Given the description of an element on the screen output the (x, y) to click on. 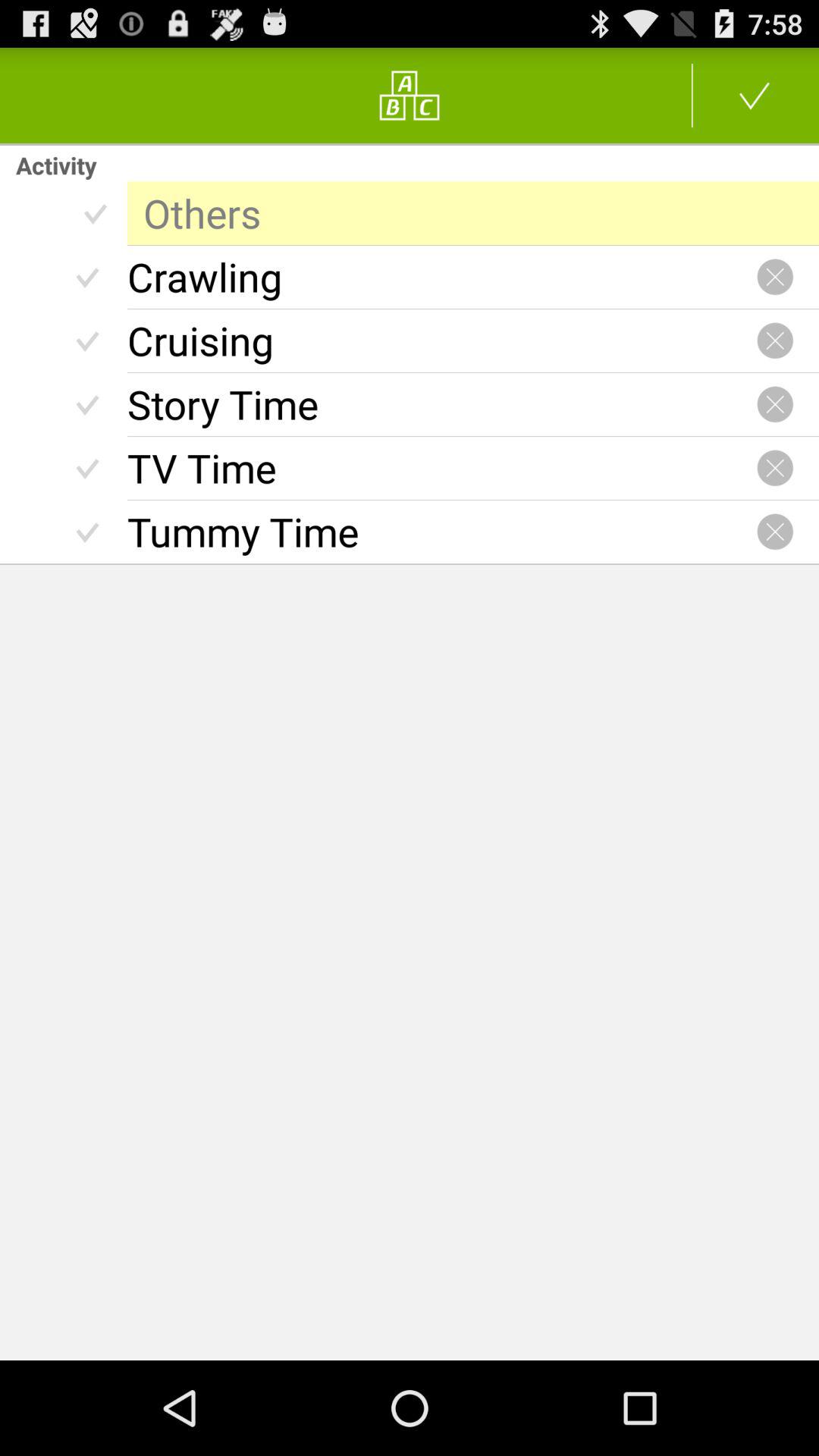
select other item button (755, 95)
